Given the description of an element on the screen output the (x, y) to click on. 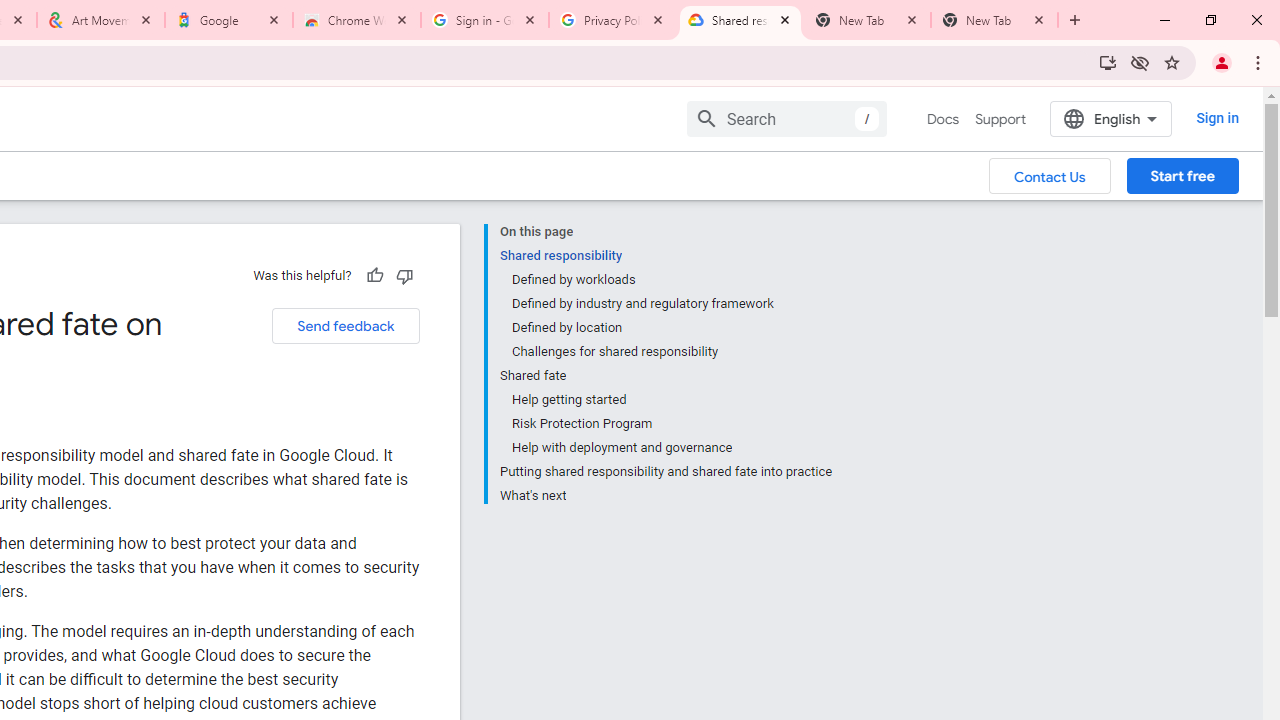
Google (229, 20)
Not helpful (404, 275)
Help getting started (671, 399)
Challenges for shared responsibility (671, 351)
Defined by location (671, 327)
Shared responsibility (665, 255)
Defined by industry and regulatory framework (671, 304)
Risk Protection Program (671, 423)
Defined by workloads (671, 279)
